Given the description of an element on the screen output the (x, y) to click on. 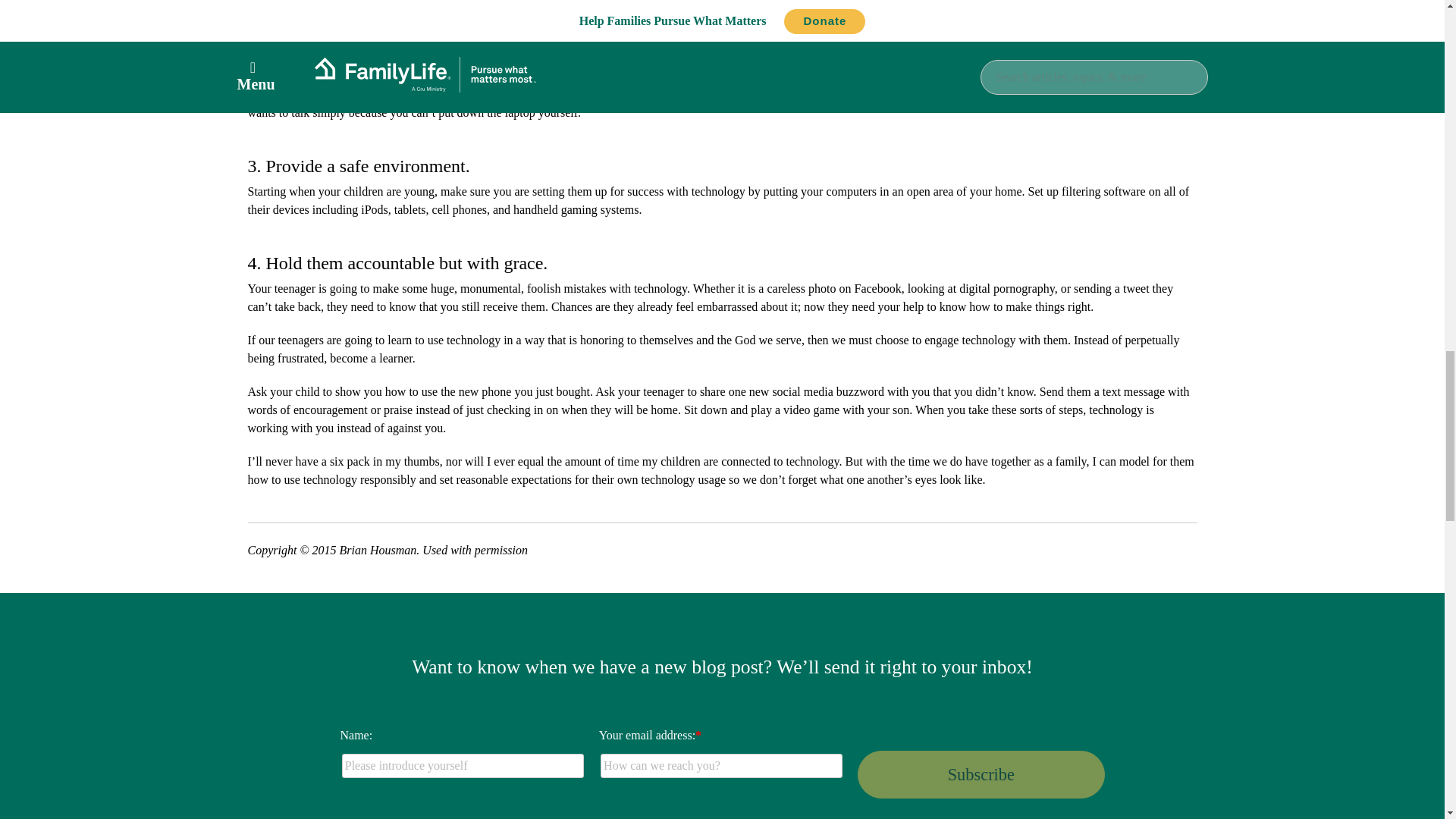
click to join (980, 774)
How can we reach you? (721, 765)
Subscribe (980, 774)
Required (698, 735)
Please introduce yourself (462, 765)
